Given the description of an element on the screen output the (x, y) to click on. 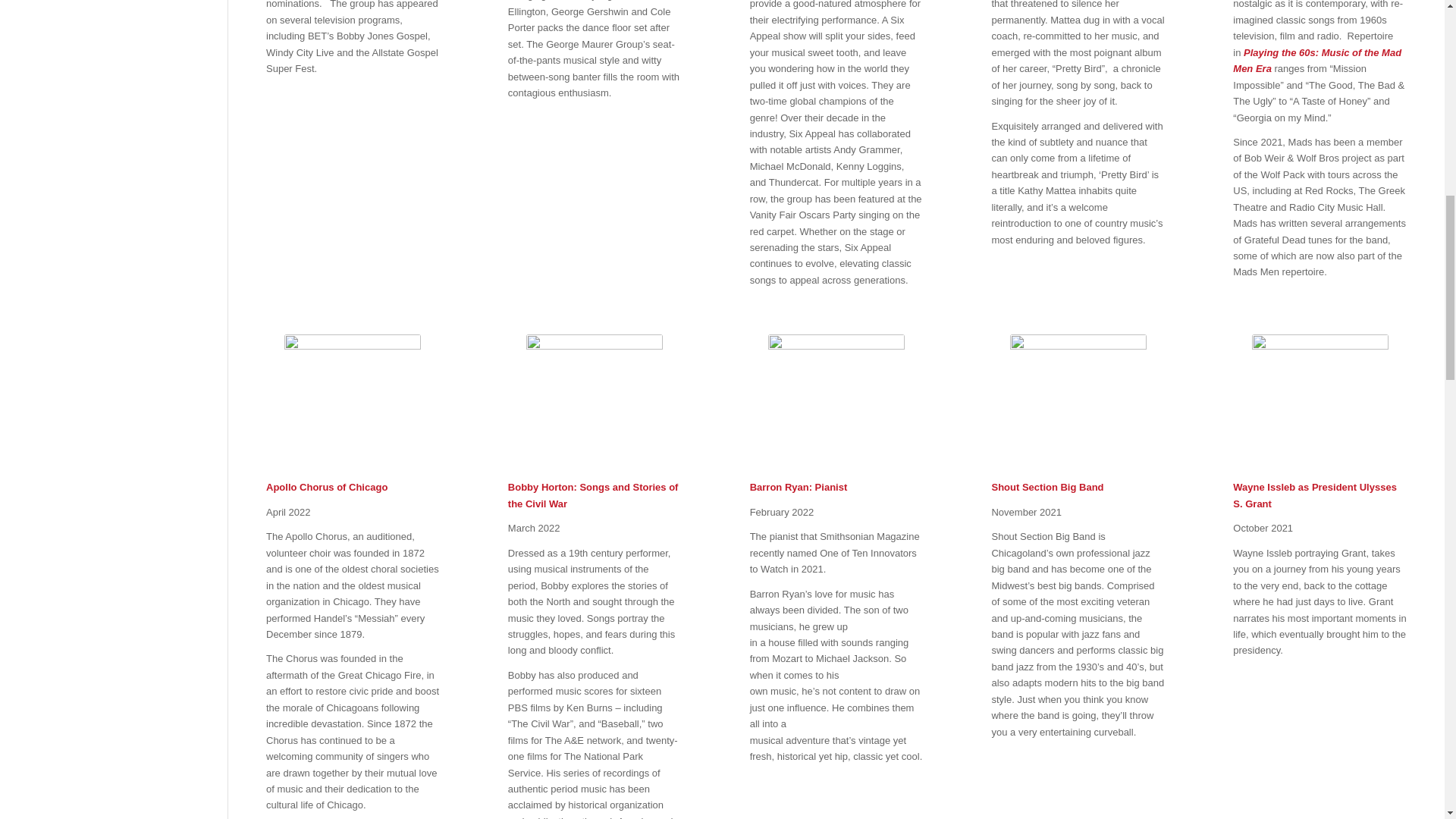
shoutsection42 (1078, 402)
3-6c6f6a04e63d518af6d2f0c343be5e60 (593, 402)
Past-Outreach-Efforts-img02 (351, 402)
